Given the description of an element on the screen output the (x, y) to click on. 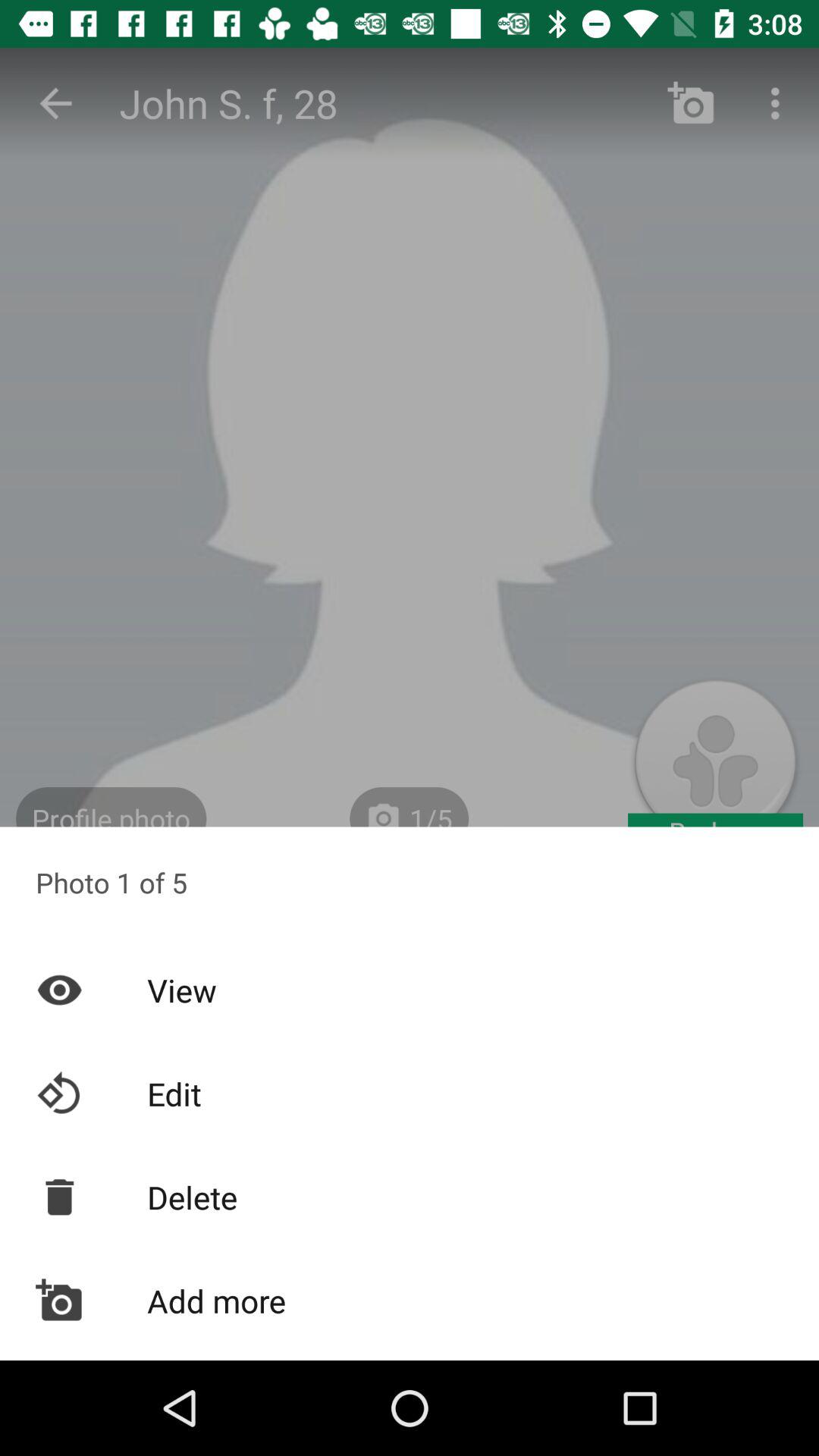
swipe to the add more item (409, 1300)
